Given the description of an element on the screen output the (x, y) to click on. 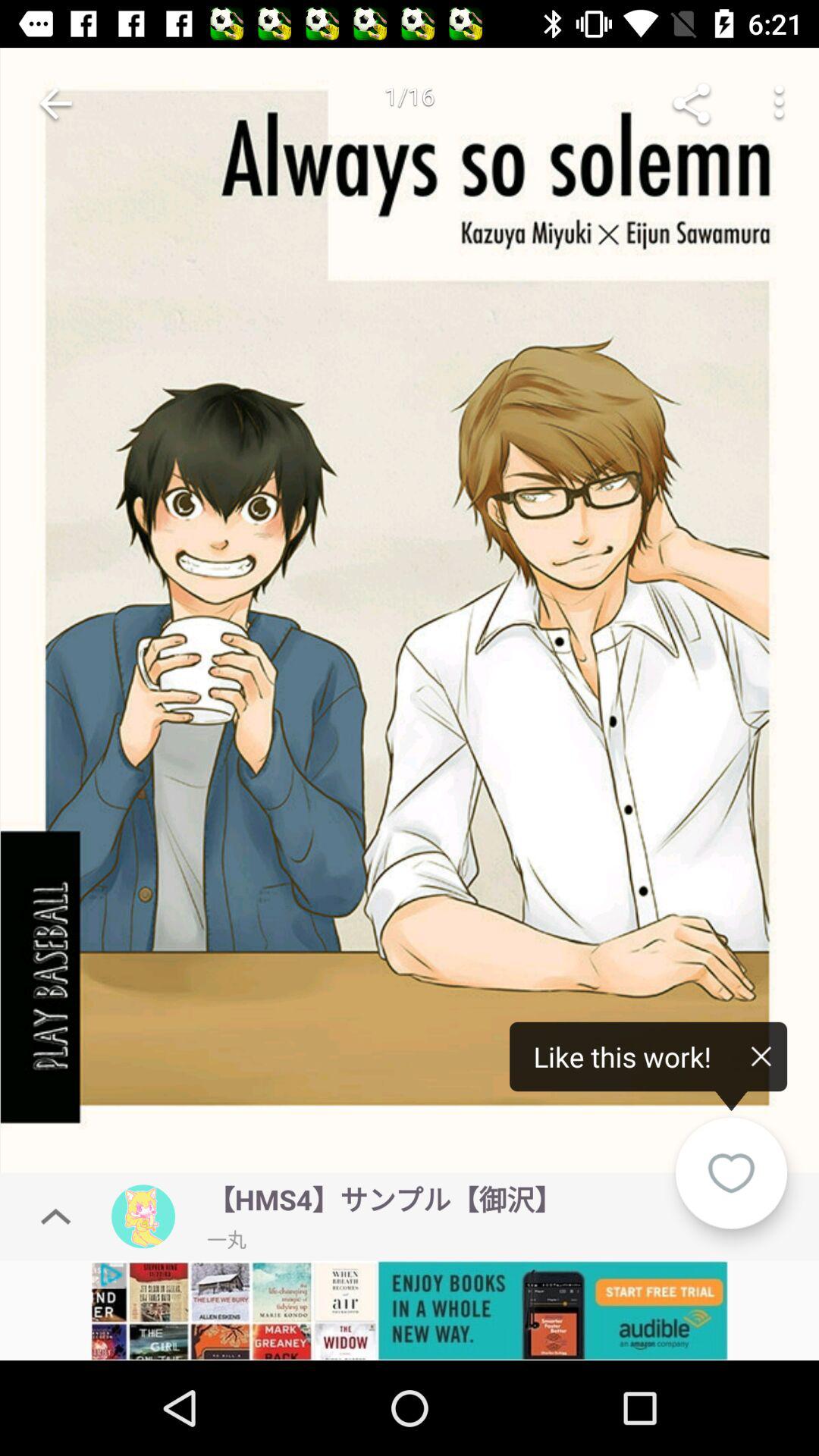
go back (55, 103)
